Given the description of an element on the screen output the (x, y) to click on. 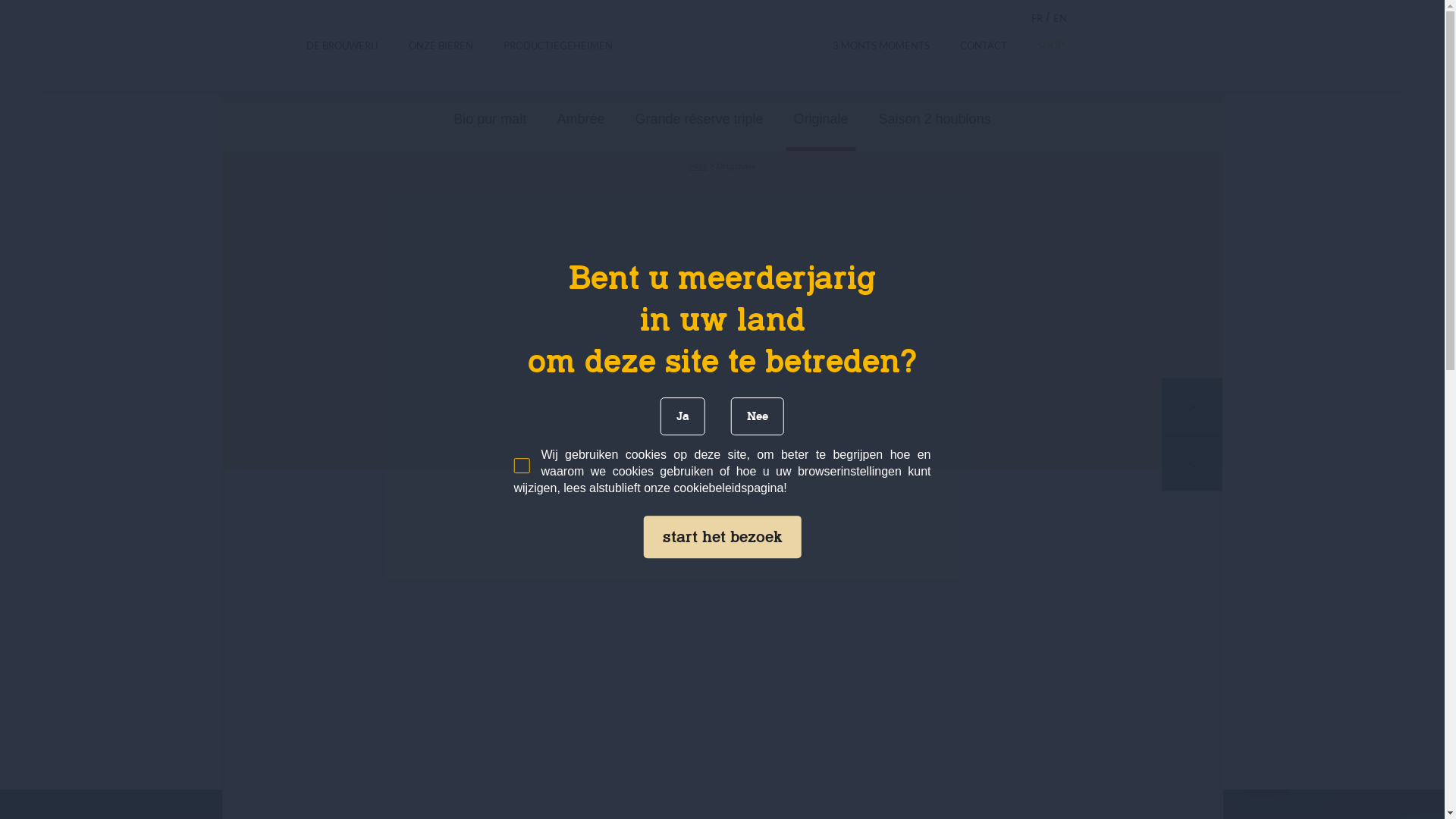
Originale Element type: text (820, 120)
FR Element type: text (1036, 18)
> Element type: text (1191, 406)
EN Element type: text (1059, 18)
Saison 2 houblons Element type: text (934, 119)
ONZE BIEREN Element type: text (439, 45)
PRODUCTIEGEHEIMEN Element type: text (557, 45)
DE BROUWERIJ Element type: text (342, 45)
start het bezoek Element type: text (721, 537)
Nee Element type: text (757, 416)
< Element type: text (1191, 462)
CONTACT Element type: text (983, 45)
Ja Element type: text (682, 416)
3 MONTS MOMENTS Element type: text (880, 45)
Huis Element type: text (697, 165)
Bio pur malt Element type: text (489, 119)
SHOP Element type: text (1050, 45)
